Given the description of an element on the screen output the (x, y) to click on. 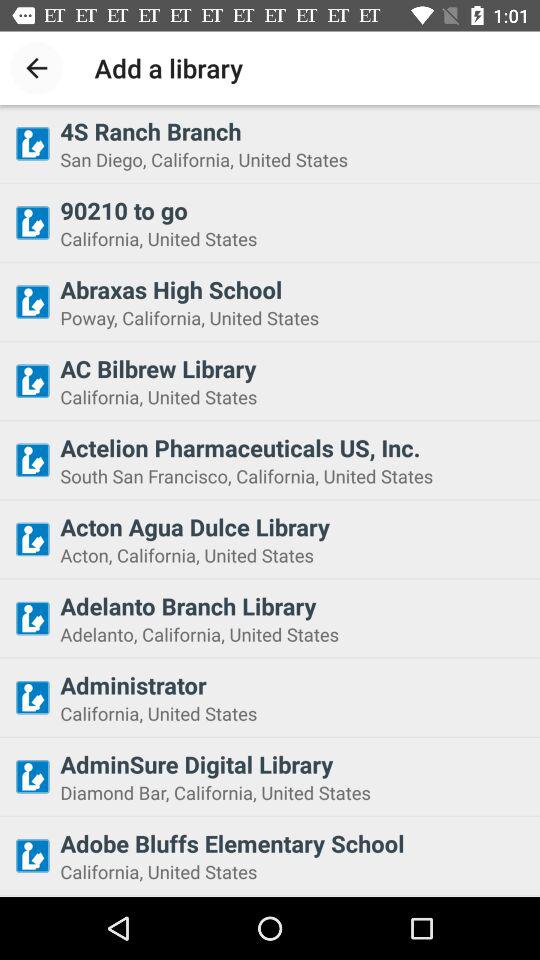
turn on the abraxas high school (294, 289)
